Given the description of an element on the screen output the (x, y) to click on. 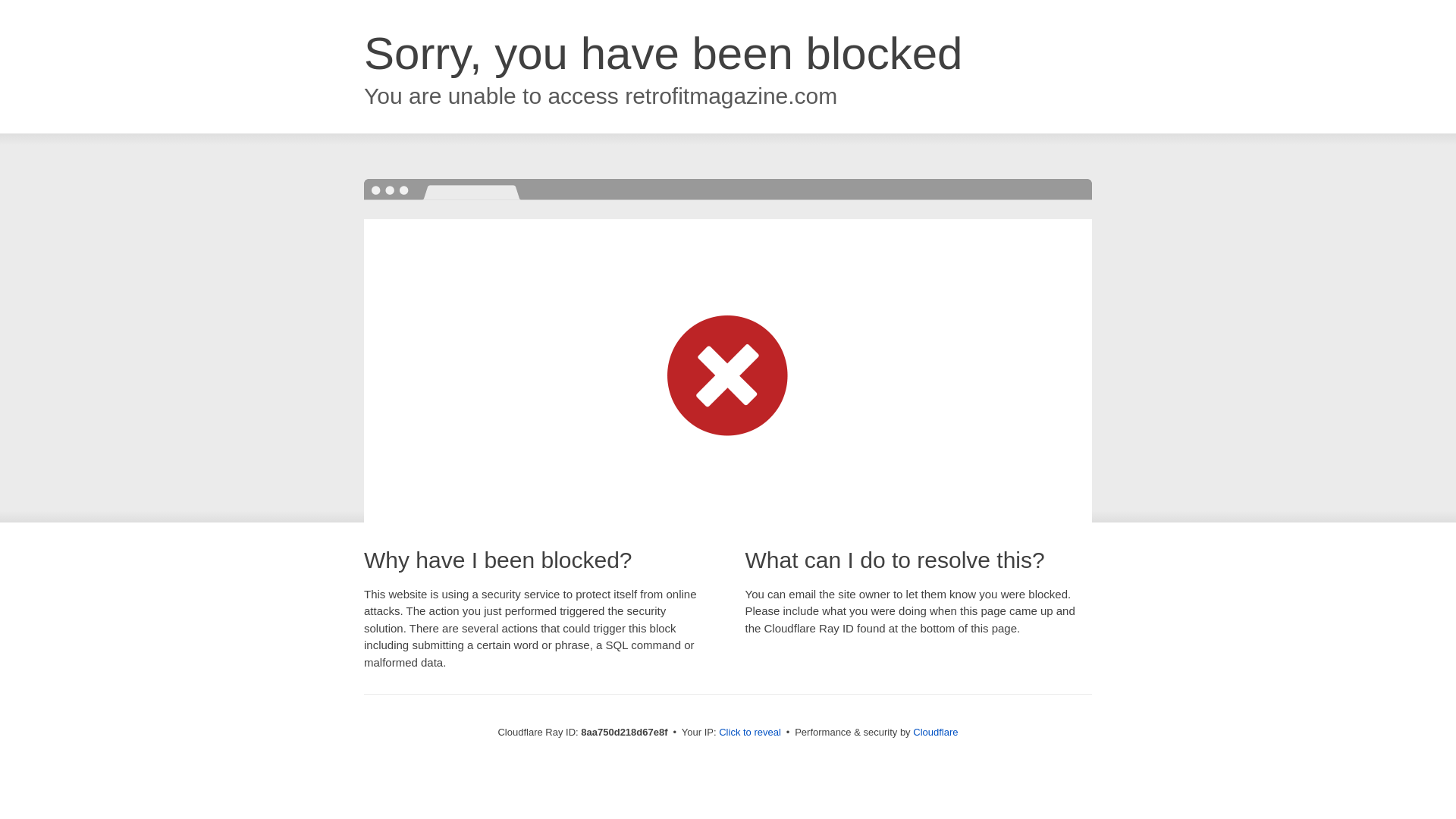
Cloudflare (935, 731)
Click to reveal (749, 732)
